Given the description of an element on the screen output the (x, y) to click on. 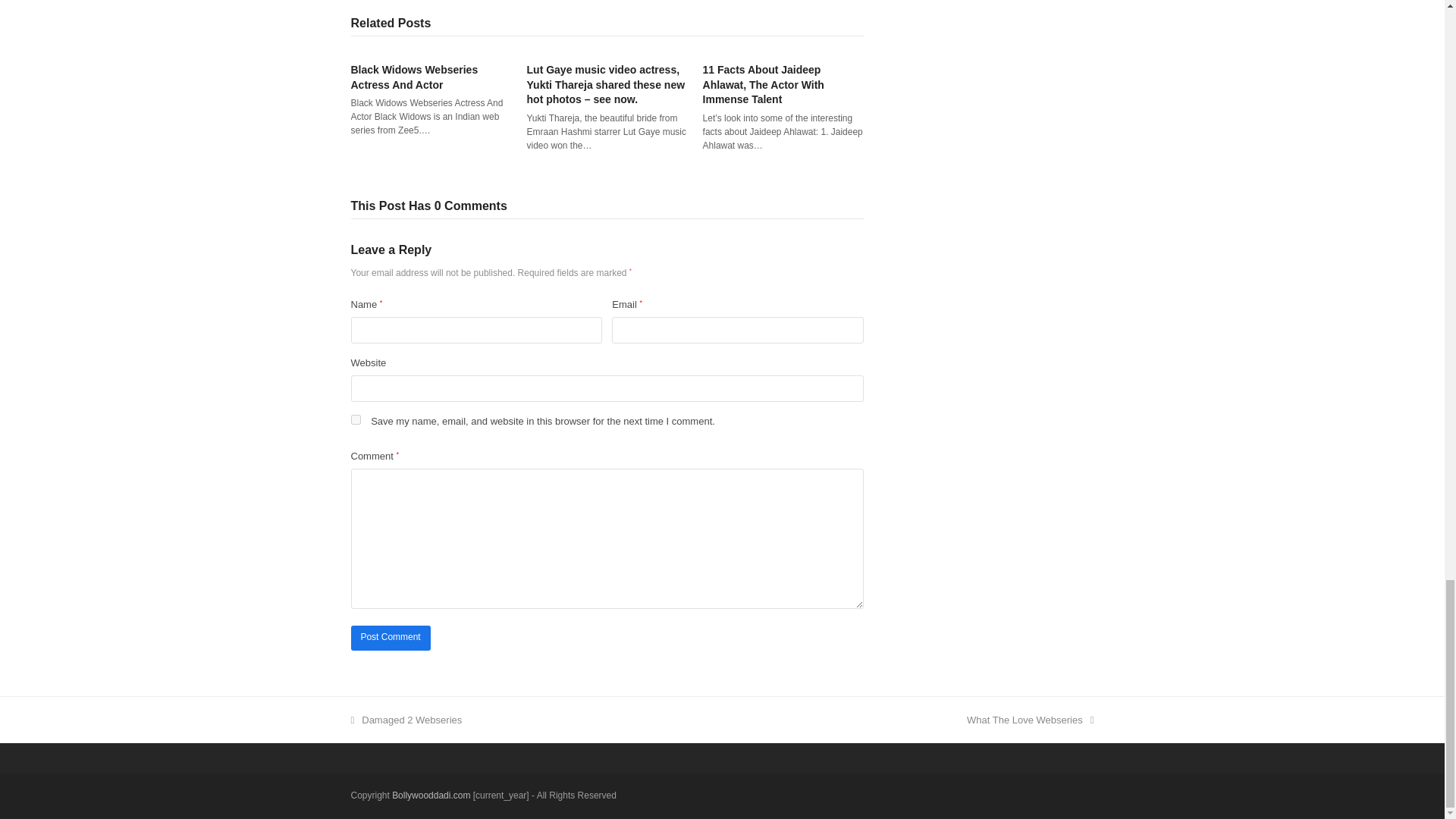
Black Widows Webseries Actress And Actor (413, 76)
Post Comment (389, 637)
Post Comment (389, 637)
yes (354, 419)
